Given the description of an element on the screen output the (x, y) to click on. 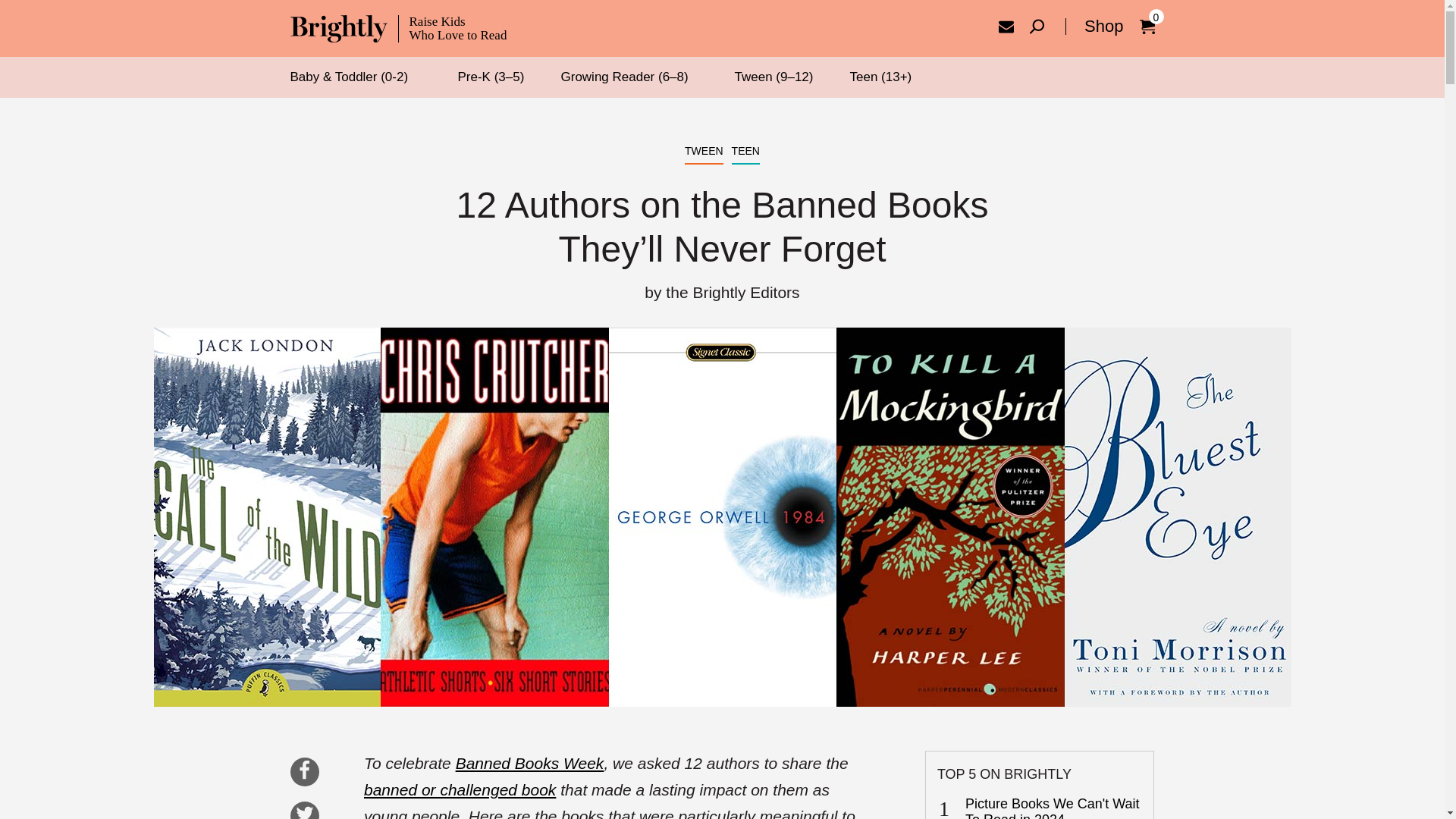
uniE603 (1036, 25)
Shop (1093, 26)
twitter (397, 28)
envelope (304, 811)
Brightly (1005, 25)
cart (397, 28)
